Given the description of an element on the screen output the (x, y) to click on. 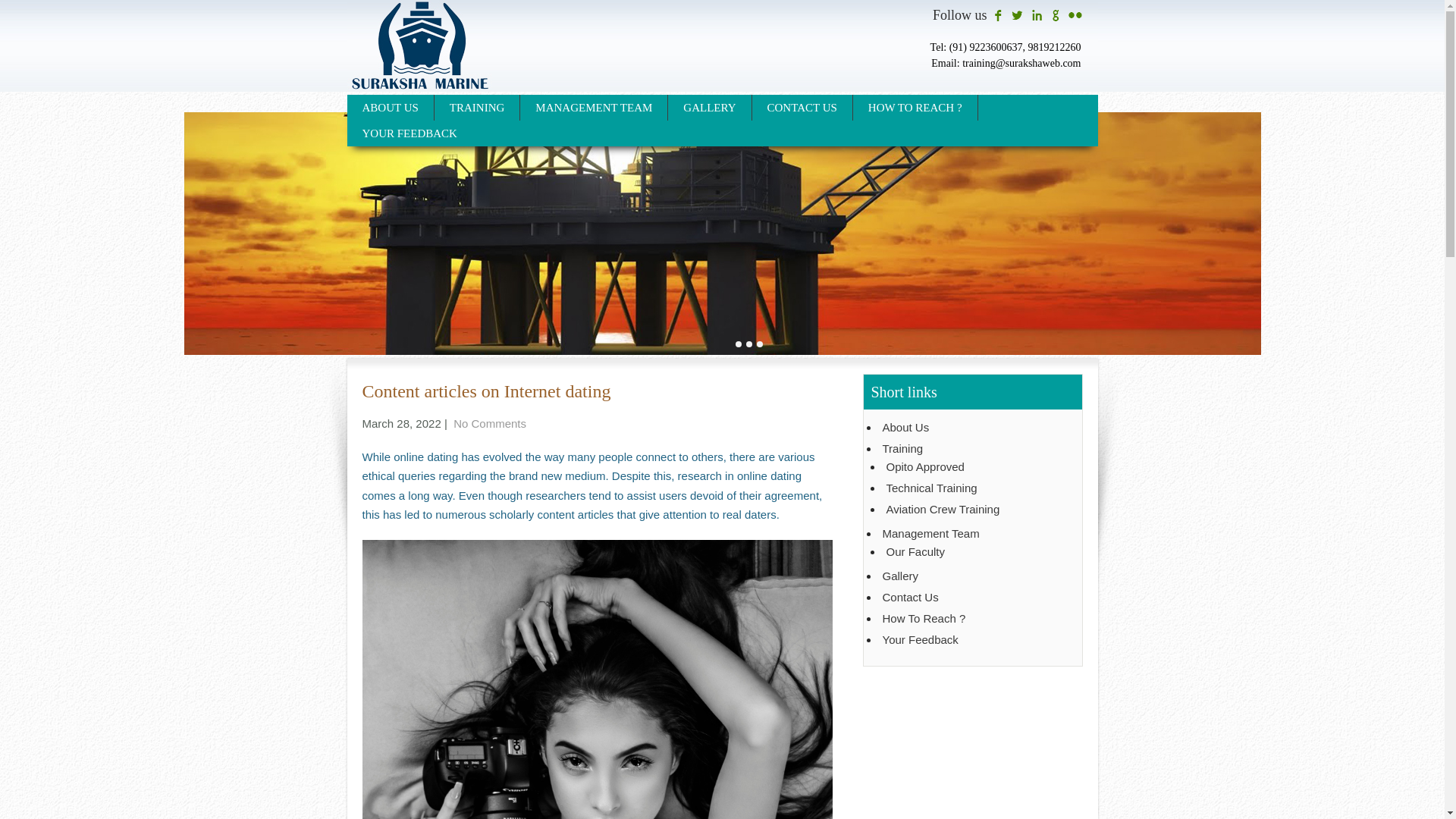
2 (748, 344)
CONTACT US (802, 107)
HOW TO REACH ? (915, 107)
Our Faculty (975, 551)
YOUR FEEDBACK (409, 133)
Gallery (974, 575)
MANAGEMENT TEAM (593, 107)
Aviation Crew Training (975, 509)
1 (738, 344)
ABOUT US (390, 107)
Training (974, 448)
Technical Training (975, 488)
TRAINING (477, 107)
Opito Approved (975, 467)
GALLERY (709, 107)
